Given the description of an element on the screen output the (x, y) to click on. 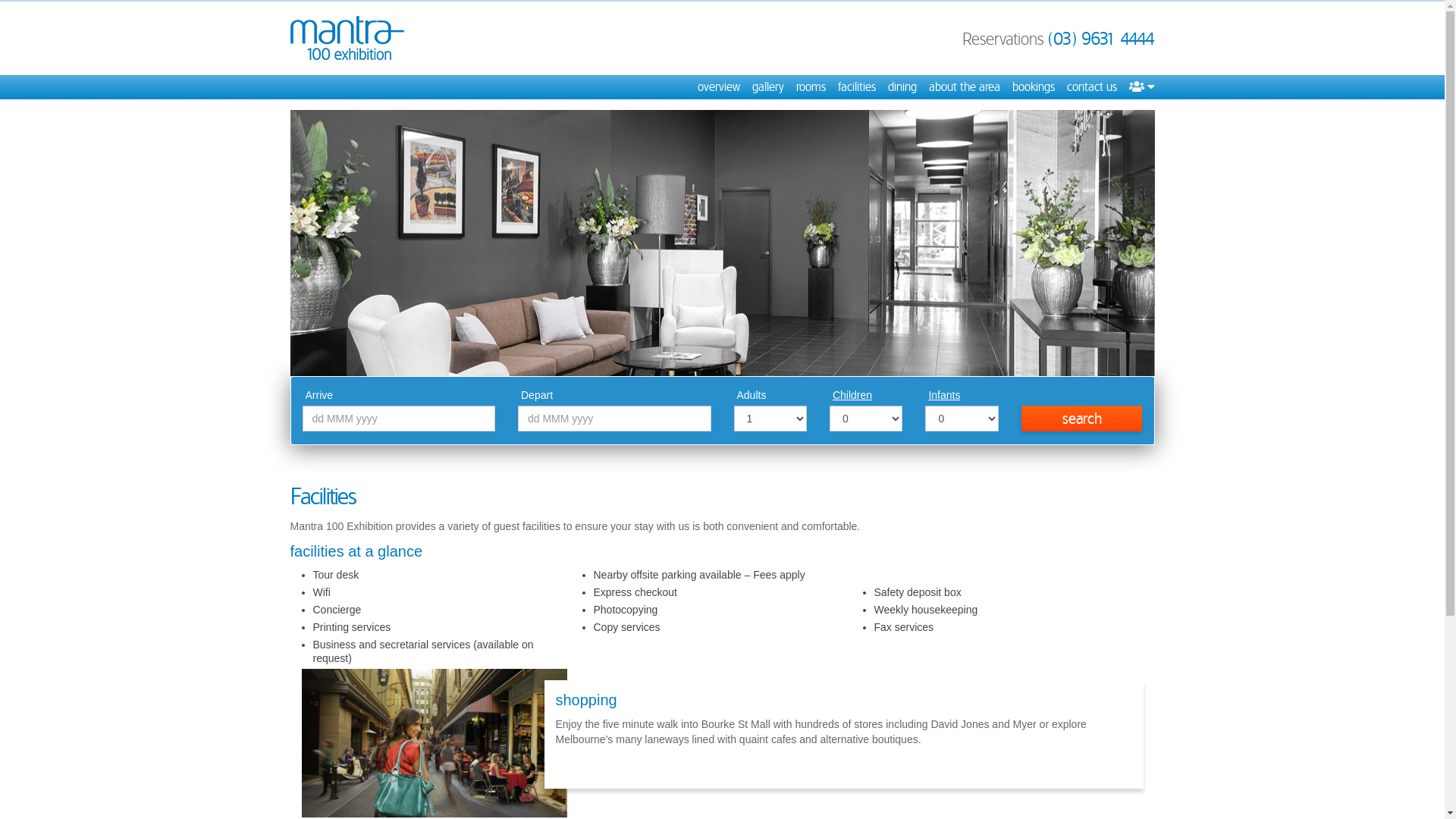
(03) 9631 4444 Element type: text (1101, 38)
rooms Element type: text (810, 87)
Lobby - Mantra 100 Exhibition Melbourne Element type: hover (721, 242)
Mantra 100 Exhibition Element type: hover (346, 37)
bookings Element type: text (1032, 87)
overview Element type: text (718, 87)
search Element type: text (1081, 418)
facilities Element type: text (856, 87)
dining Element type: text (901, 87)
gallery Element type: text (768, 87)
contact us Element type: text (1091, 87)
about the area Element type: text (963, 87)
